Given the description of an element on the screen output the (x, y) to click on. 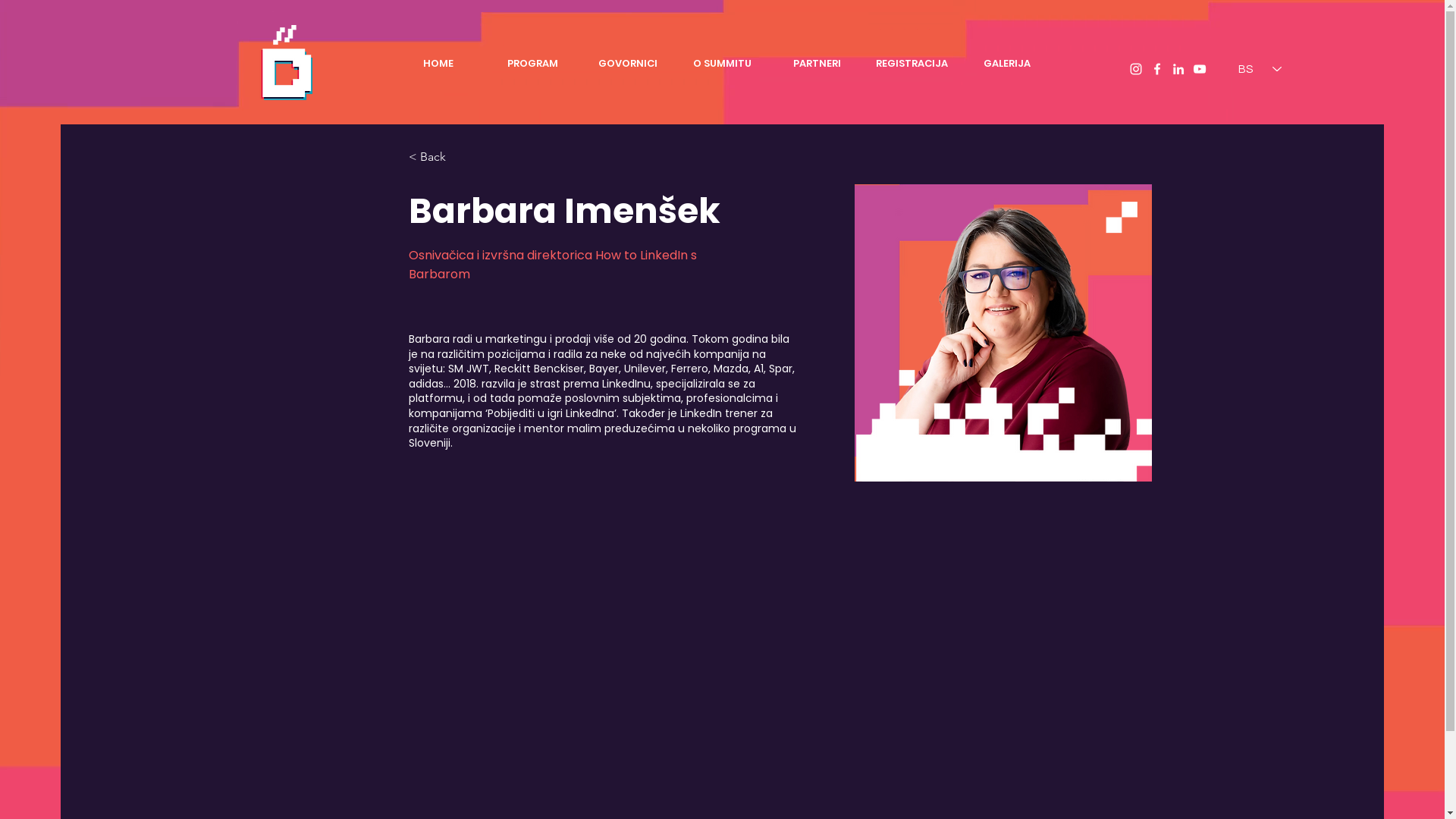
< Back Element type: text (438, 157)
HOME Element type: text (437, 63)
REGISTRACIJA Element type: text (911, 63)
PARTNERI Element type: text (816, 63)
PROGRAM Element type: text (532, 63)
O SUMMITU Element type: text (721, 63)
GOVORNICI Element type: text (627, 63)
GALERIJA Element type: text (1006, 63)
Barbara-20s_ccexpress.png Element type: hover (1002, 332)
